Given the description of an element on the screen output the (x, y) to click on. 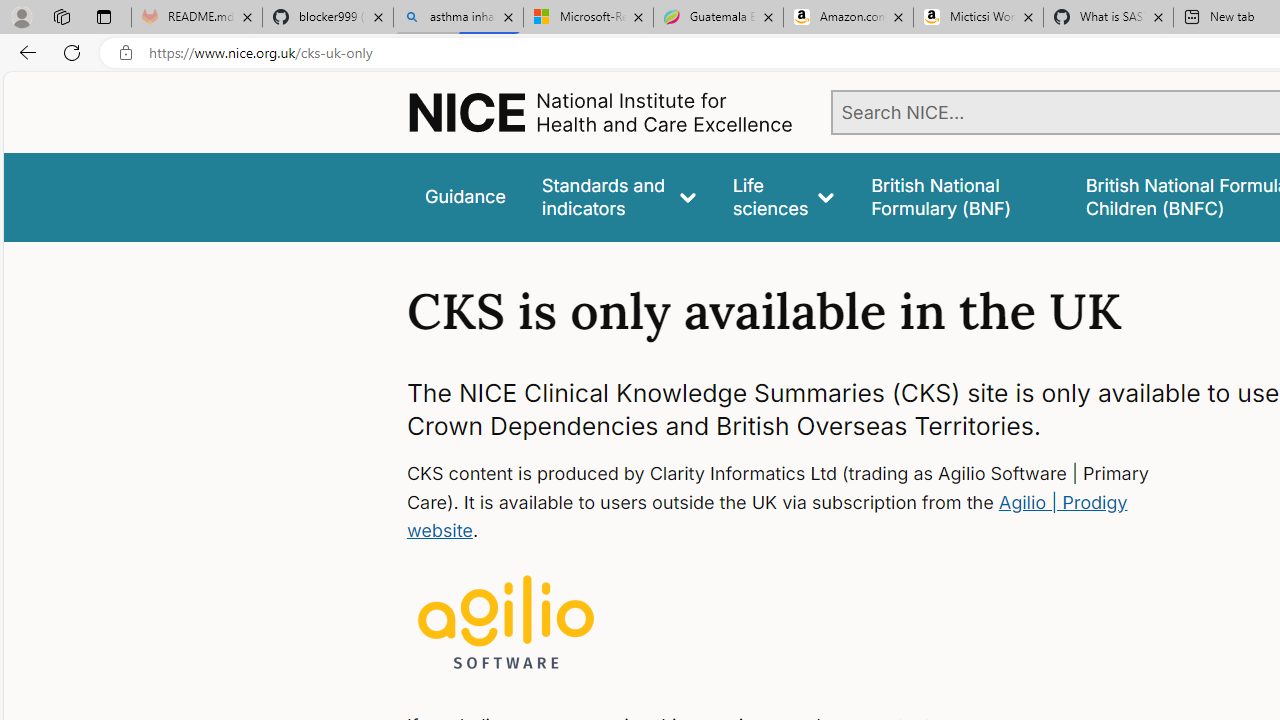
asthma inhaler - Search (458, 17)
Agilio | Prodigy website (766, 516)
false (959, 196)
Logo for Clarity Consulting (505, 624)
